Given the description of an element on the screen output the (x, y) to click on. 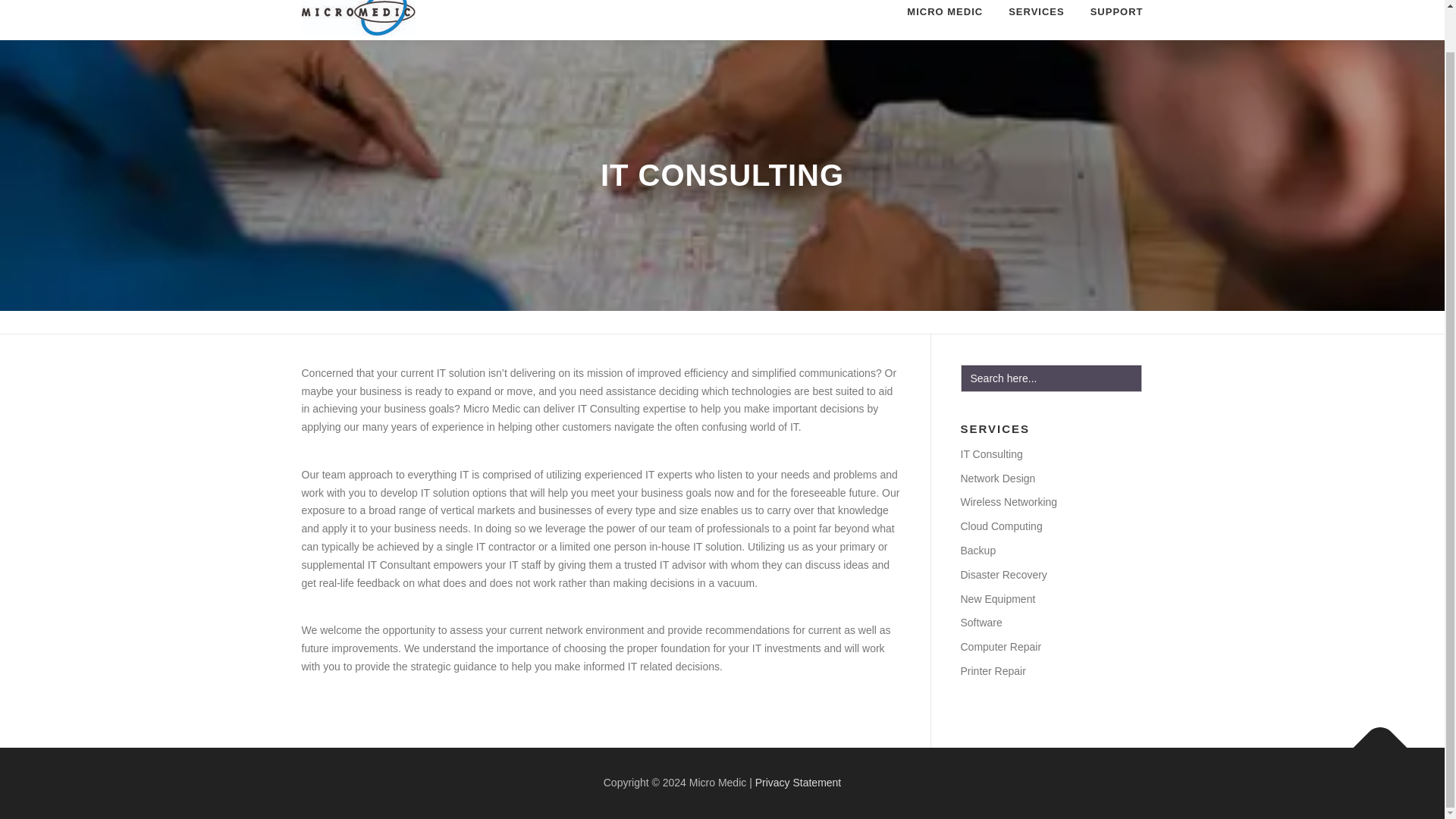
IT Consulting (990, 453)
Software (980, 622)
New Equipment (997, 598)
Printer Repair (992, 671)
Network Design (997, 478)
Back To Top (1372, 739)
Cloud Computing (1000, 526)
Disaster Recovery (1002, 574)
Backup (977, 550)
Wireless Networking (1008, 501)
SUPPORT (1109, 20)
SERVICES (1036, 20)
Privacy Statement (798, 782)
Computer Repair (1000, 646)
MICRO MEDIC (944, 20)
